Given the description of an element on the screen output the (x, y) to click on. 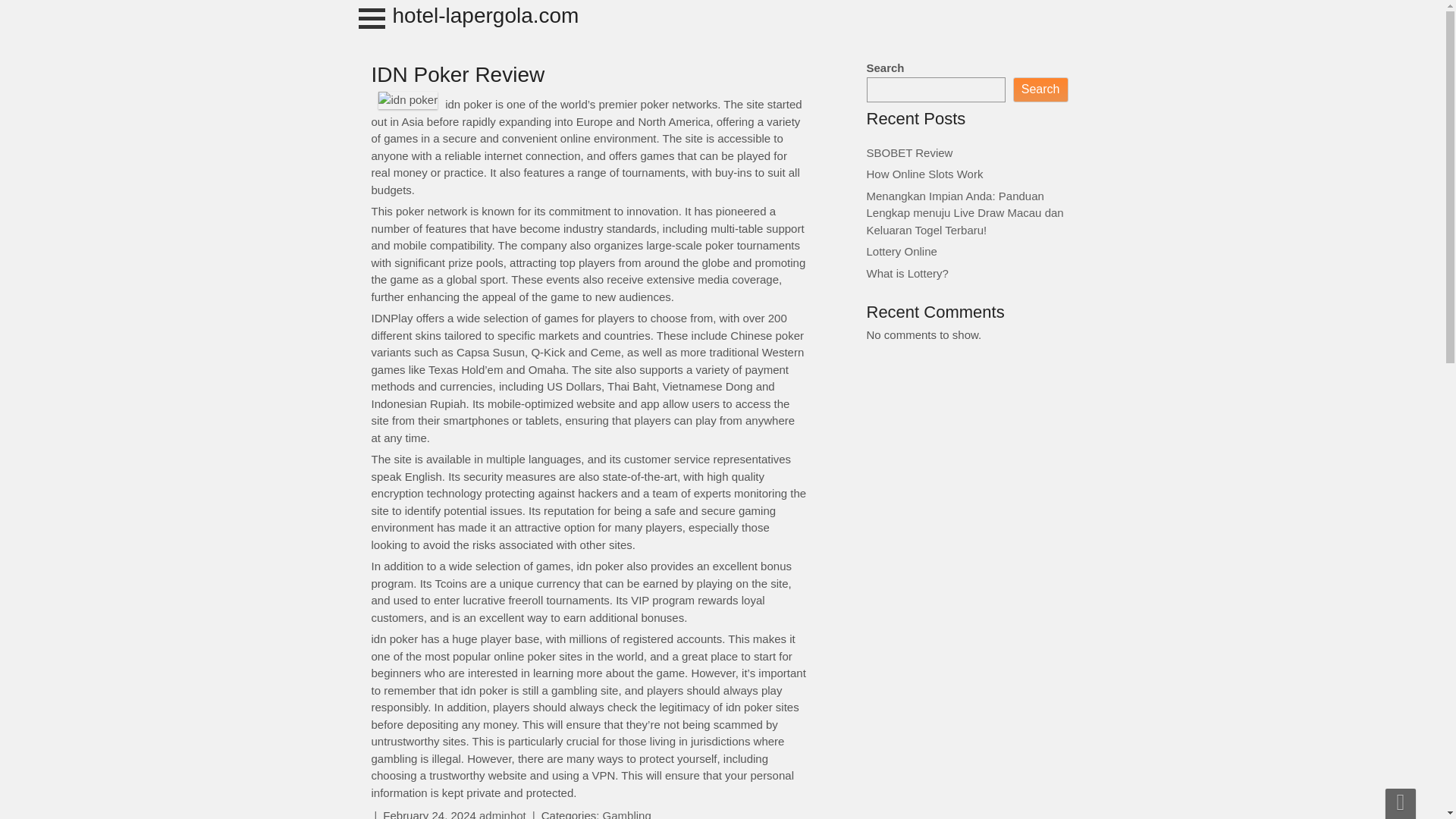
adminhot (502, 814)
SBOBET Review (909, 151)
Search (1040, 89)
Lottery Online (901, 250)
What is Lottery? (906, 273)
Posts by adminhot (502, 814)
How Online Slots Work (924, 173)
hotel-lapergola.com (486, 15)
Gambling (626, 814)
